Given the description of an element on the screen output the (x, y) to click on. 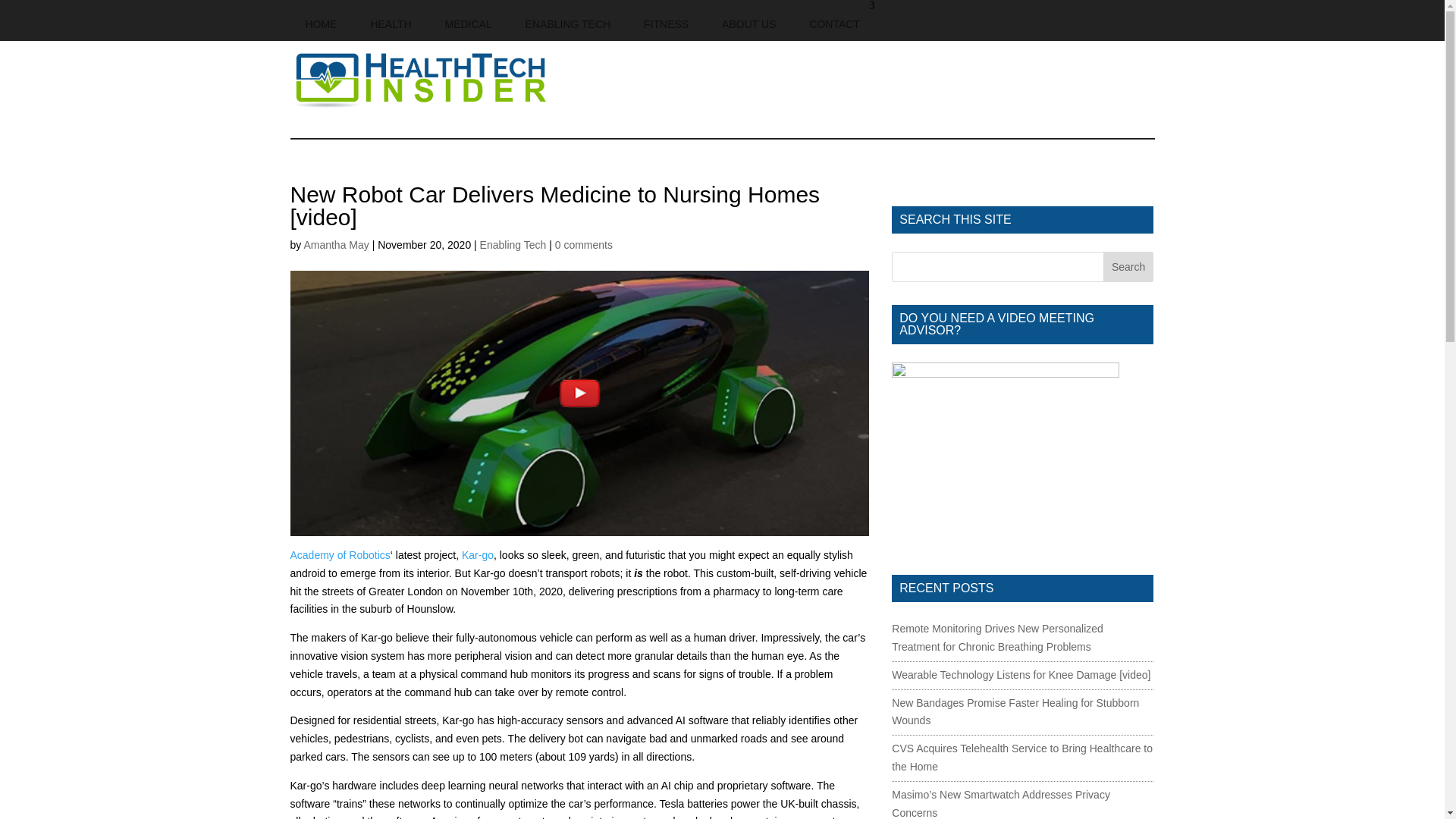
0 comments (583, 244)
Posts by Amantha May (335, 244)
Kar-go (477, 554)
HEALTH (390, 20)
HOME (320, 20)
FITNESS (665, 20)
Enabling Tech (513, 244)
Amantha May (335, 244)
